Given the description of an element on the screen output the (x, y) to click on. 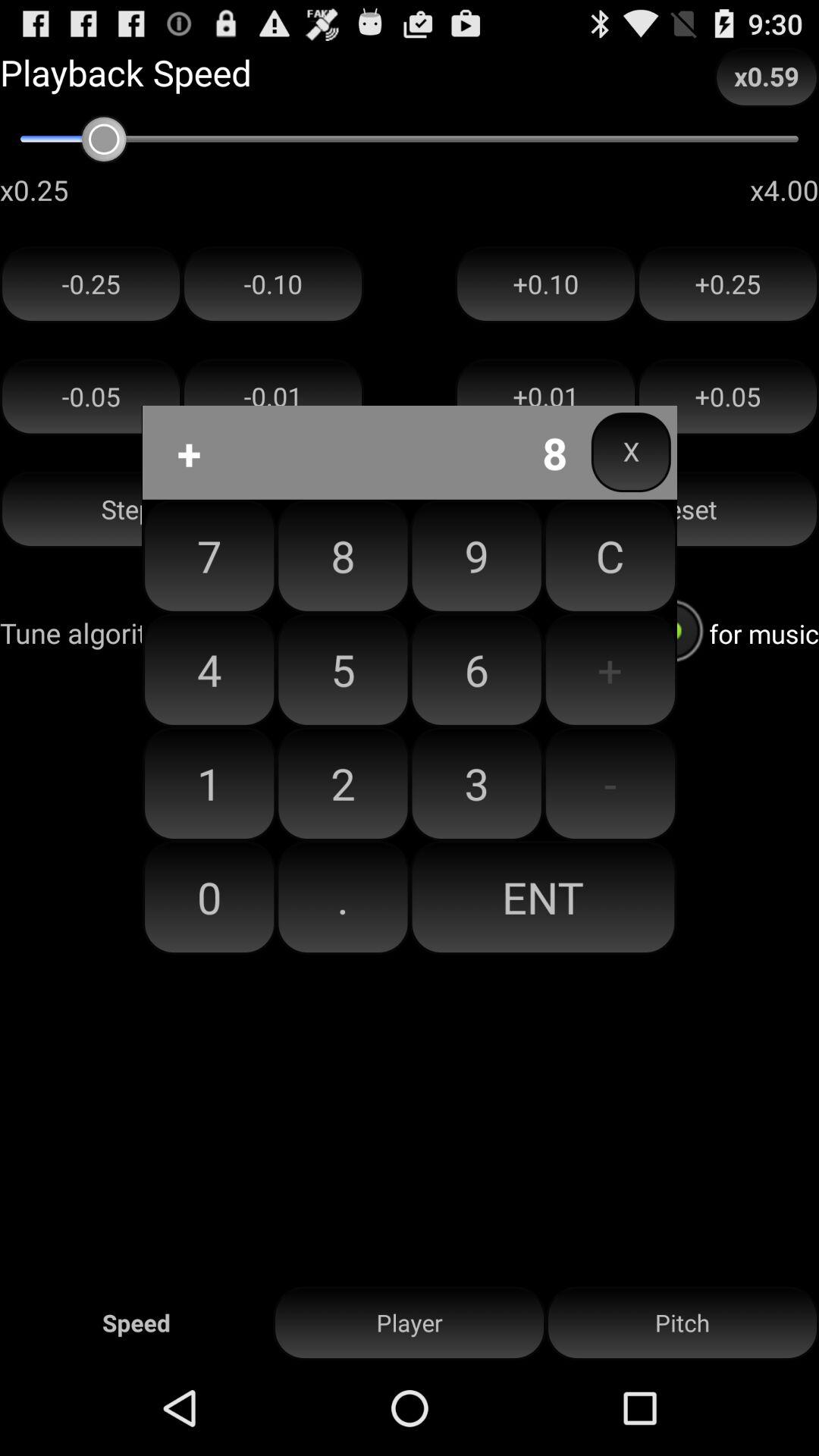
open the button next to 9 (342, 669)
